Given the description of an element on the screen output the (x, y) to click on. 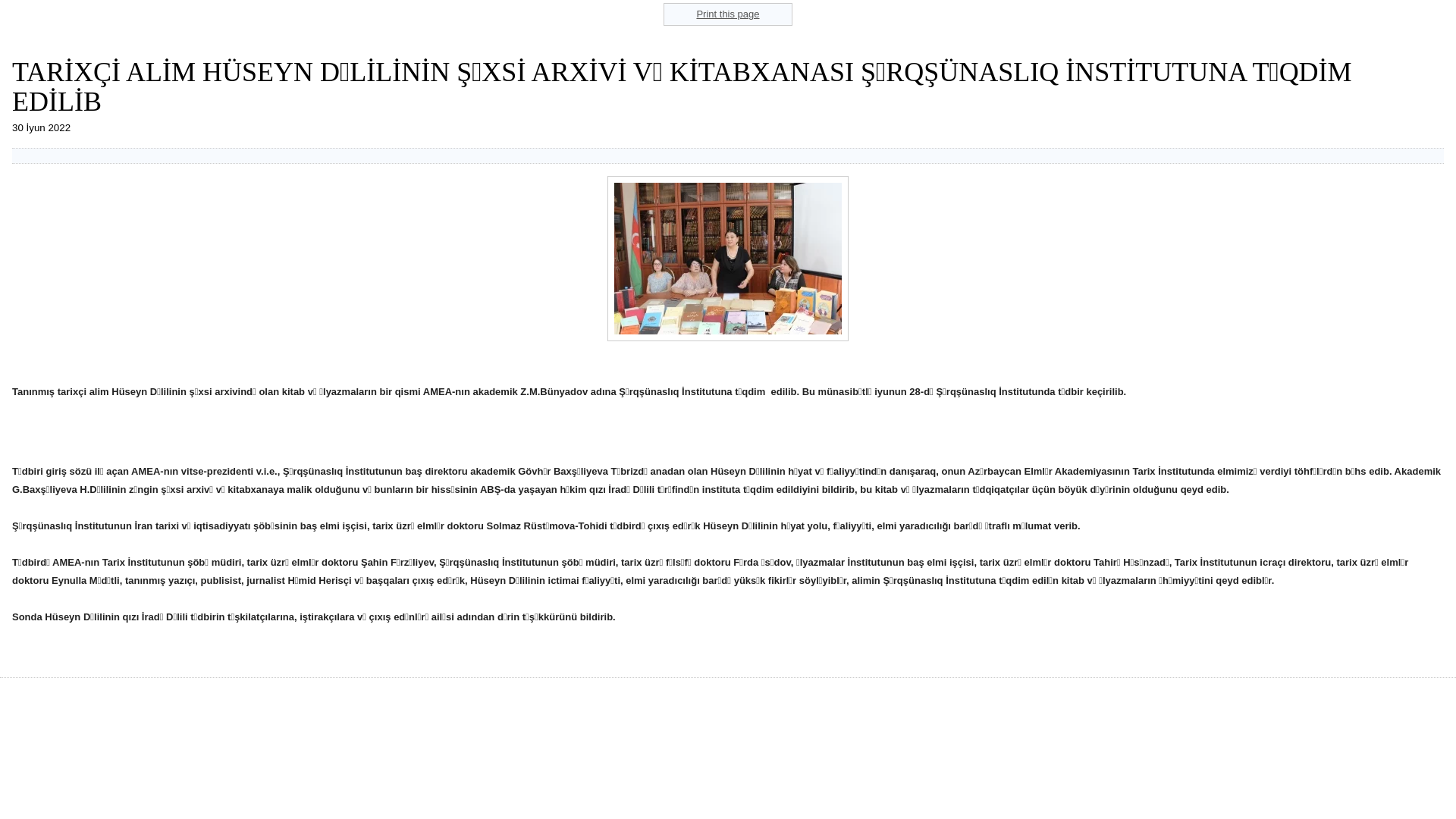
Print this page Element type: text (727, 14)
Click to preview image Element type: hover (727, 337)
